Given the description of an element on the screen output the (x, y) to click on. 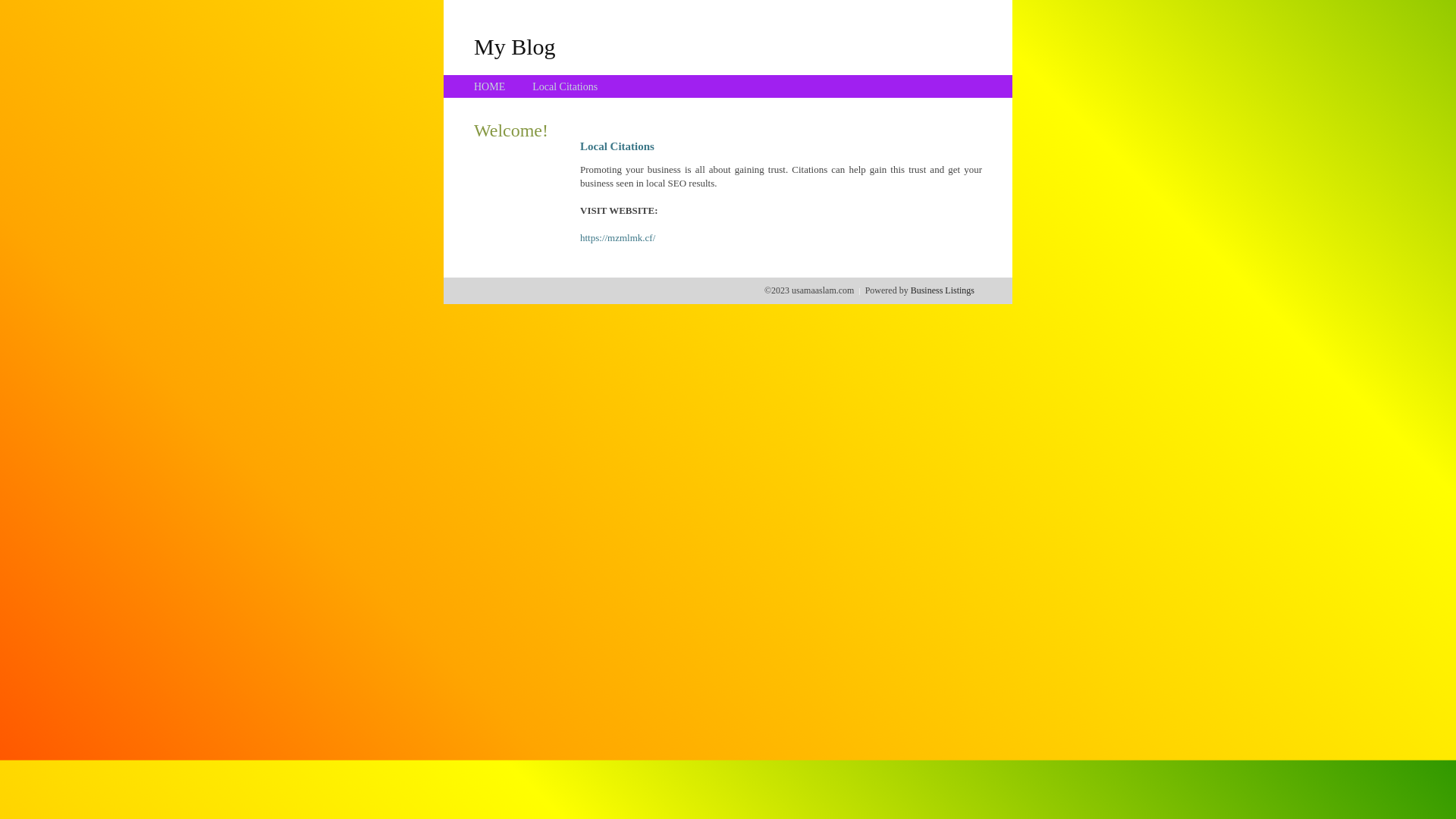
https://mzmlmk.cf/ Element type: text (617, 237)
My Blog Element type: text (514, 46)
HOME Element type: text (489, 86)
Business Listings Element type: text (942, 290)
Local Citations Element type: text (564, 86)
